Given the description of an element on the screen output the (x, y) to click on. 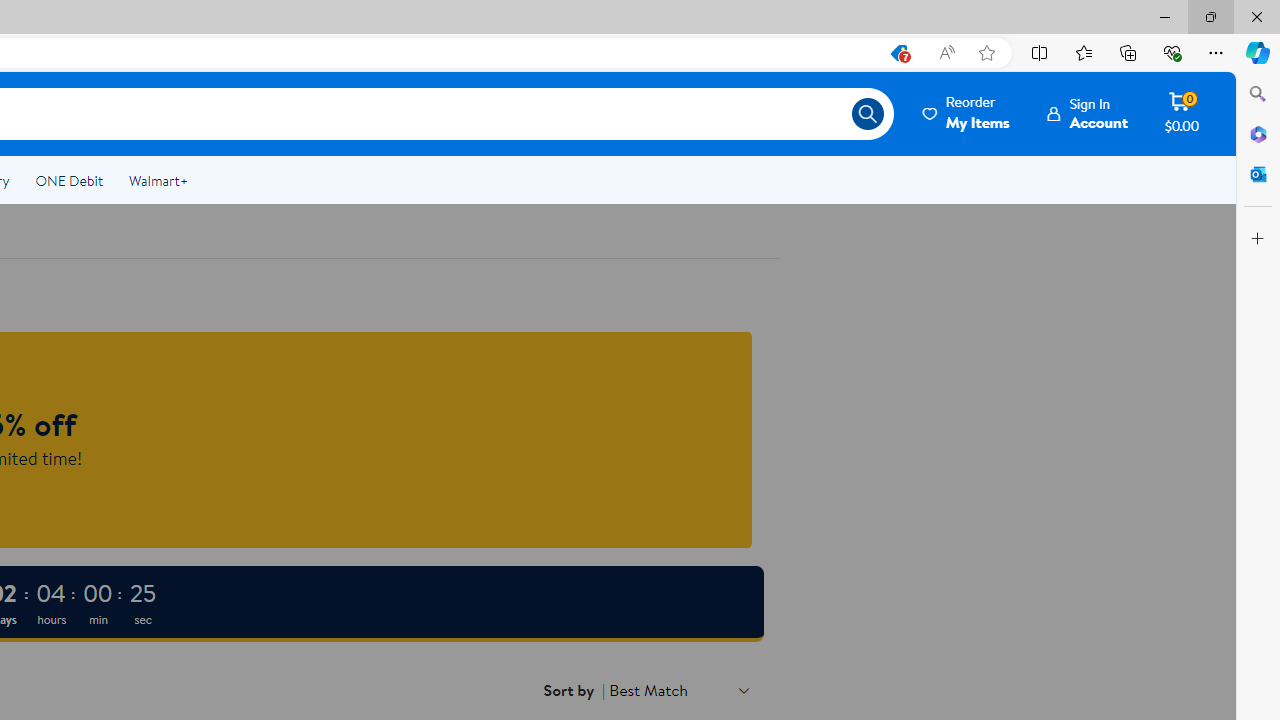
Sort by Best Match (680, 690)
Cart contains 0 items Total Amount $0.00 (1182, 113)
ONE Debit (68, 180)
ReorderMy Items (967, 113)
Reorder My Items (967, 113)
